Given the description of an element on the screen output the (x, y) to click on. 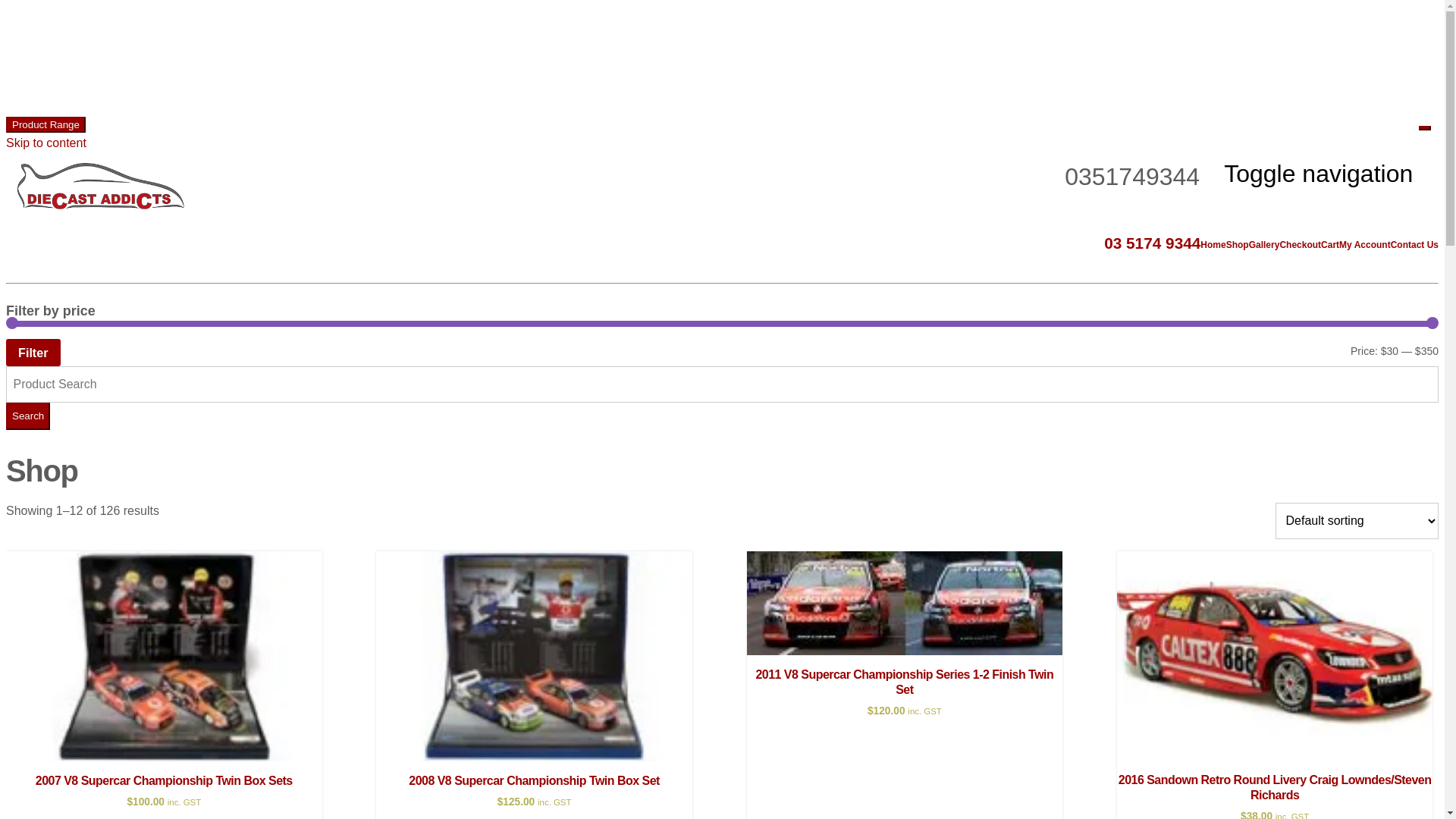
2007 V8 Supercar Championship Twin Box Sets
$100.00 inc. GST Element type: text (164, 680)
Checkout Element type: text (1300, 244)
Filter Element type: text (33, 352)
Toggle navigation   Element type: text (1324, 173)
2008 V8 Supercar Championship Twin Box Set
$125.00 inc. GST Element type: text (534, 680)
Cart Element type: text (1330, 244)
My Account Element type: text (1364, 244)
Shop Element type: text (1237, 244)
Search Element type: text (28, 415)
Skip to content Element type: text (46, 142)
Product Range Element type: text (45, 124)
03 5174 9344 Element type: text (1152, 242)
Home Element type: text (1212, 244)
Gallery Element type: text (1264, 244)
Contact Us Element type: text (1414, 244)
